Given the description of an element on the screen output the (x, y) to click on. 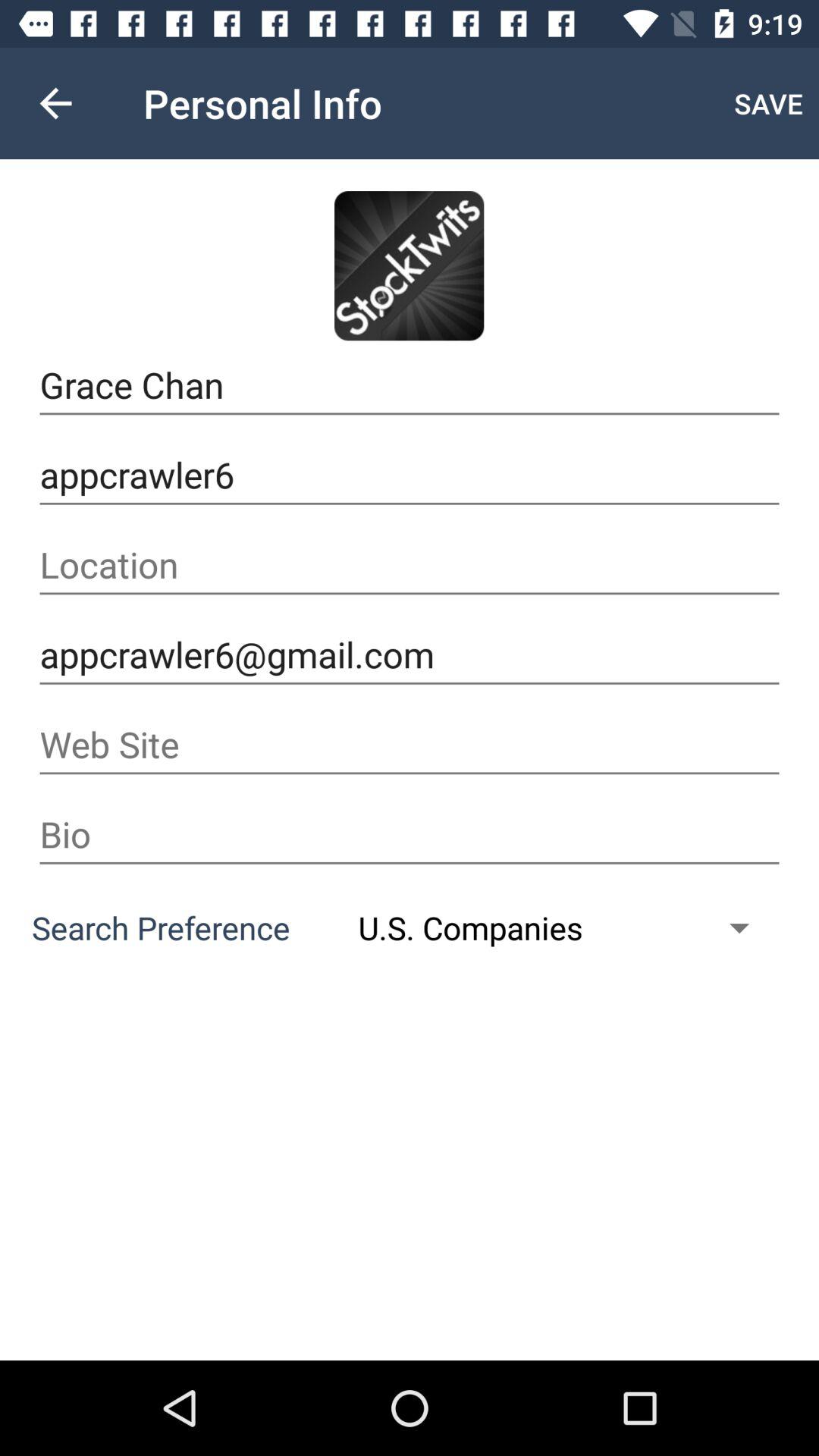
launch item above the u.s. companies (409, 834)
